Given the description of an element on the screen output the (x, y) to click on. 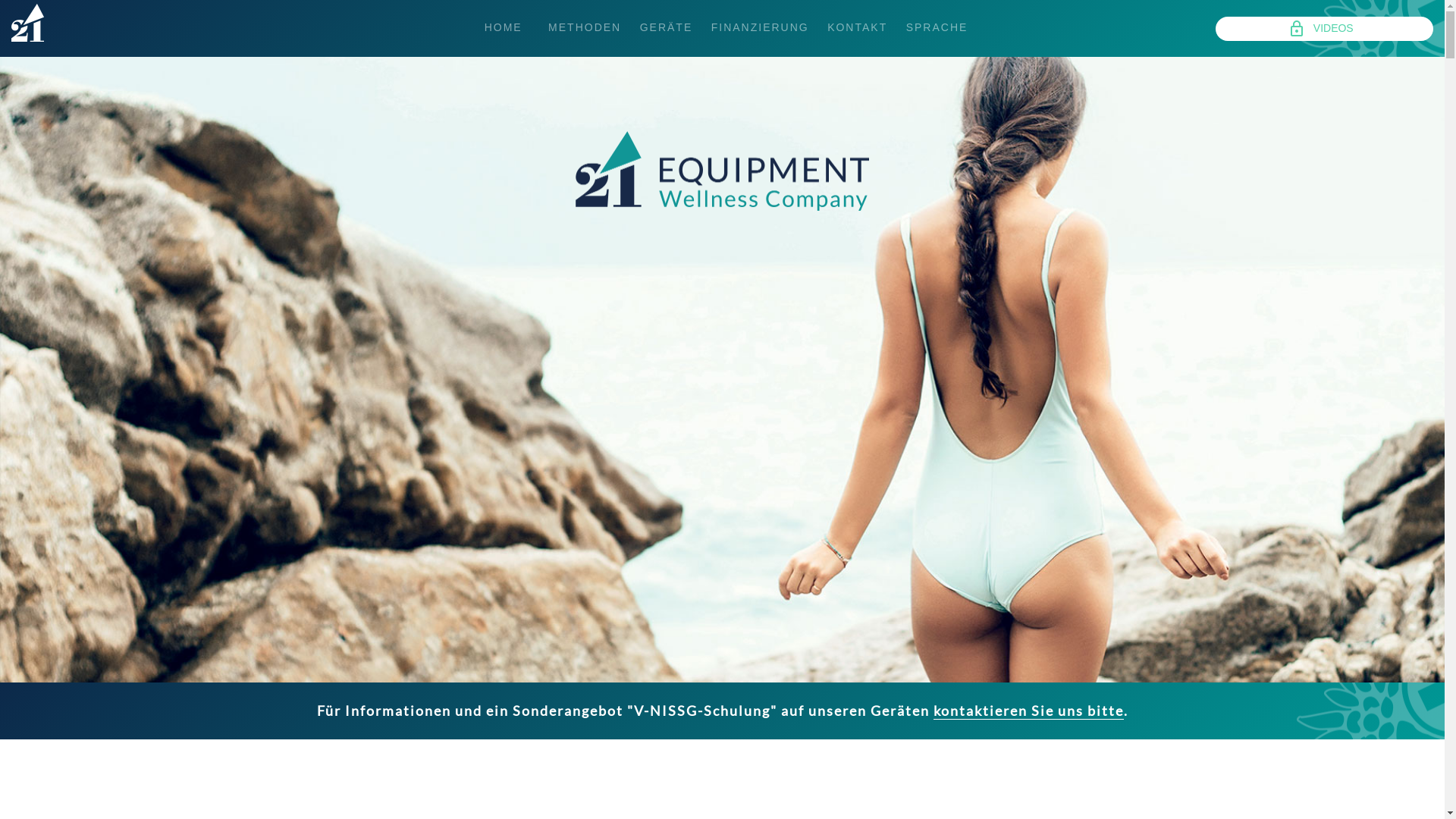
kontaktieren Sie uns bitte Element type: text (1027, 710)
lock_outline
VIDEOS Element type: text (1323, 28)
